Given the description of an element on the screen output the (x, y) to click on. 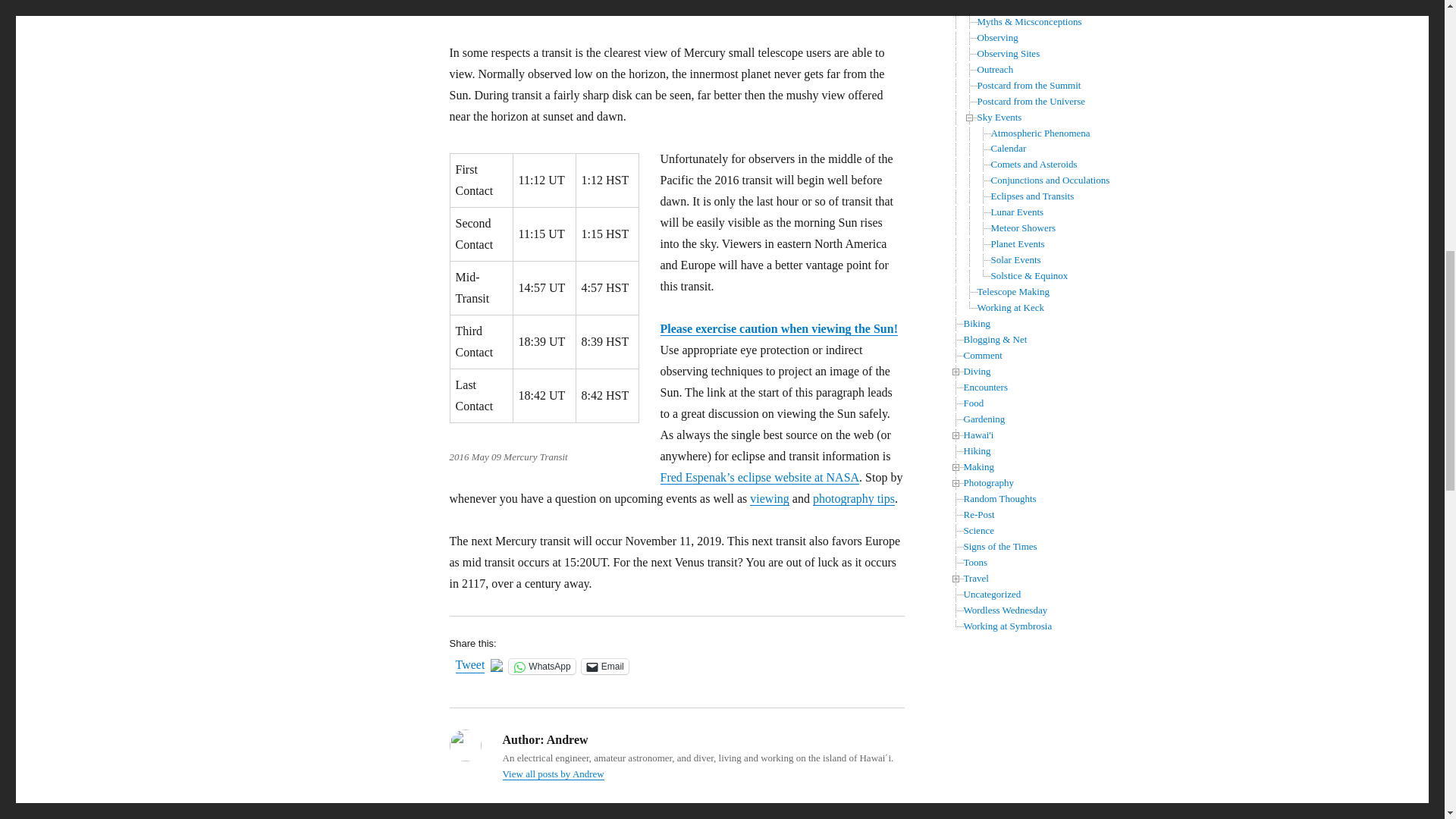
History (991, 5)
View all posts by Andrew (553, 773)
Email (604, 666)
Tweet (469, 665)
WhatsApp (541, 666)
Click to share on WhatsApp (541, 666)
Please exercise caution when viewing the Sun! (777, 328)
viewing (769, 498)
Click to email a link to a friend (604, 666)
photography tips (853, 498)
